Given the description of an element on the screen output the (x, y) to click on. 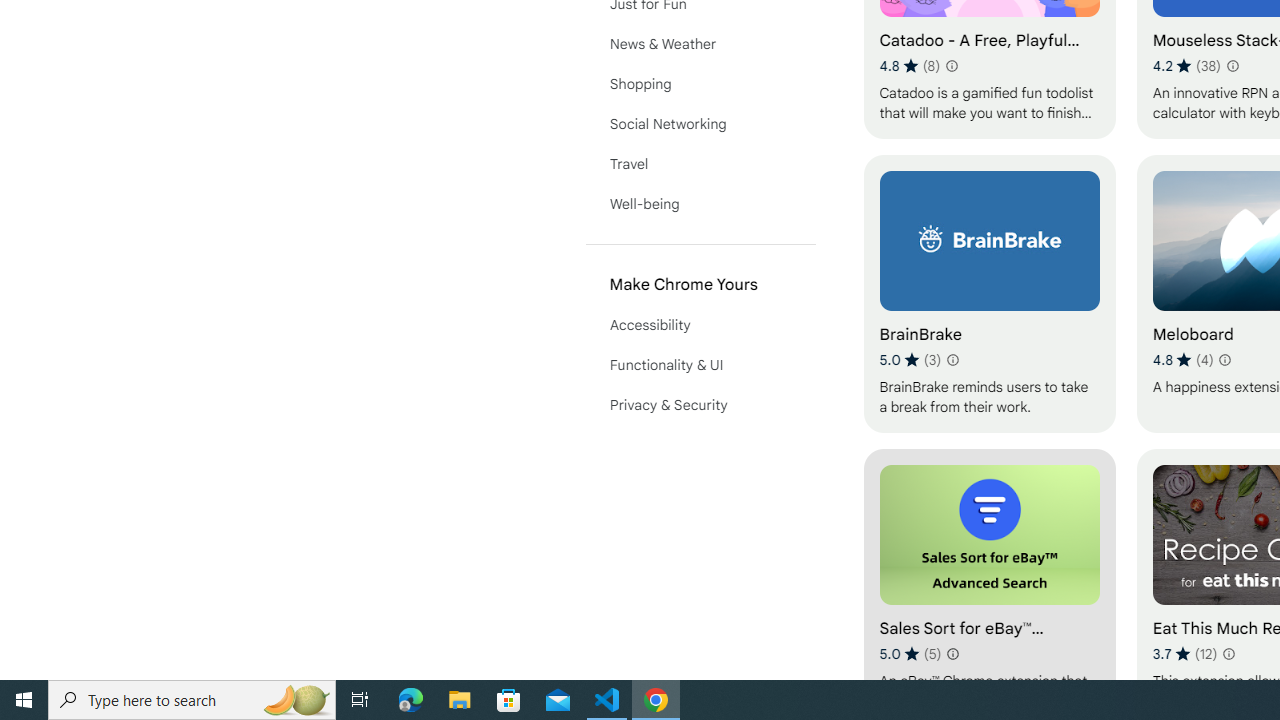
Average rating 4.8 out of 5 stars. 8 ratings. (909, 66)
Shopping (700, 83)
BrainBrake (989, 293)
Accessibility (700, 324)
Learn more about results and reviews "Meloboard" (1224, 359)
Well-being (700, 203)
Average rating 4.8 out of 5 stars. 4 ratings. (1182, 359)
Travel (700, 164)
Functionality & UI (700, 364)
News & Weather (700, 43)
Social Networking (700, 123)
